Given the description of an element on the screen output the (x, y) to click on. 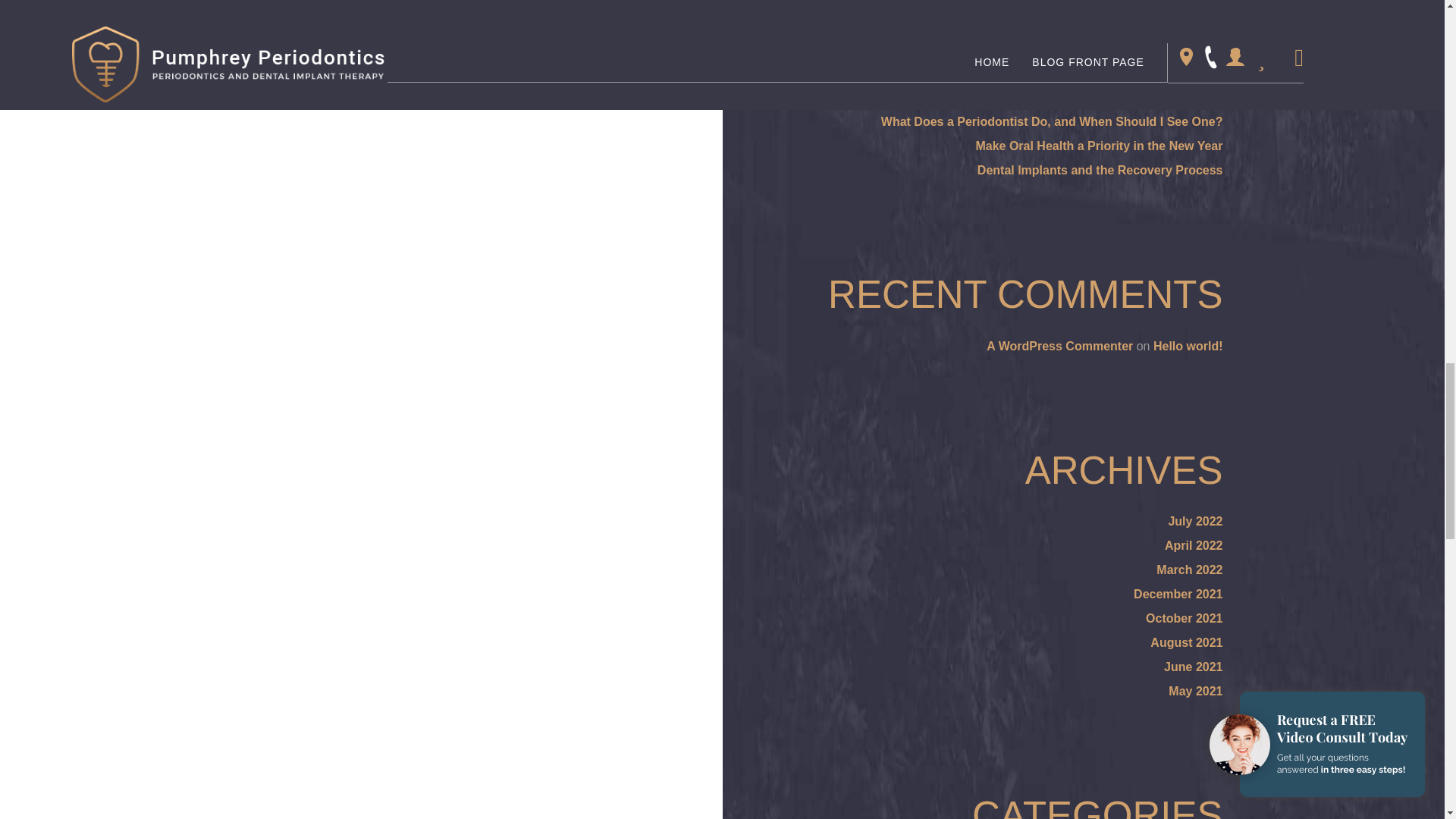
What Is Full Mouth Reconstruction? (1118, 72)
